Given the description of an element on the screen output the (x, y) to click on. 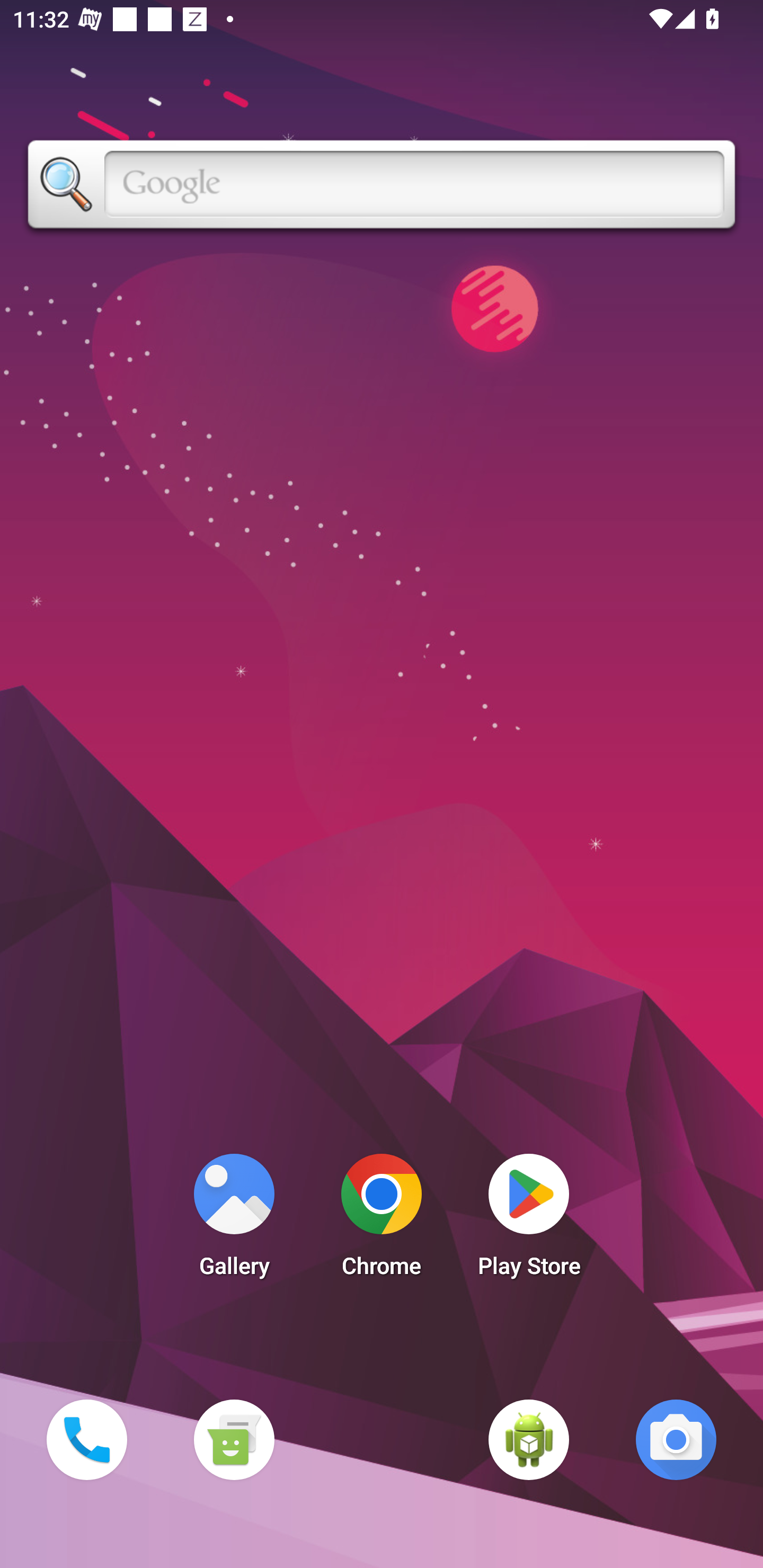
Gallery (233, 1220)
Chrome (381, 1220)
Play Store (528, 1220)
Phone (86, 1439)
Messaging (233, 1439)
WebView Browser Tester (528, 1439)
Camera (676, 1439)
